Given the description of an element on the screen output the (x, y) to click on. 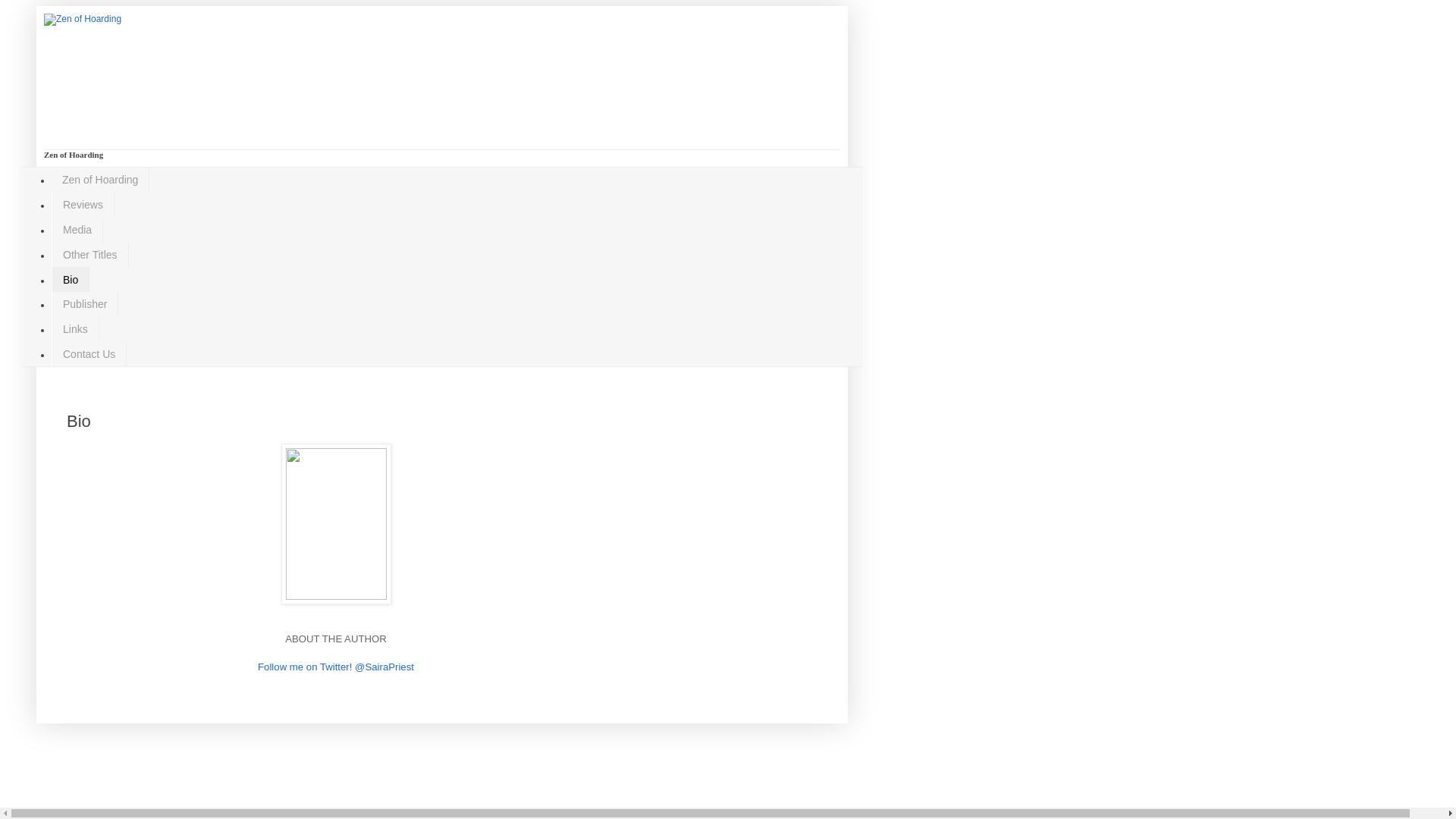
Other Titles (89, 253)
Zen of Hoarding (99, 179)
Media (76, 229)
Links (74, 329)
Reviews (82, 204)
Contact Us (88, 353)
Publisher (83, 303)
Bio (69, 278)
